Given the description of an element on the screen output the (x, y) to click on. 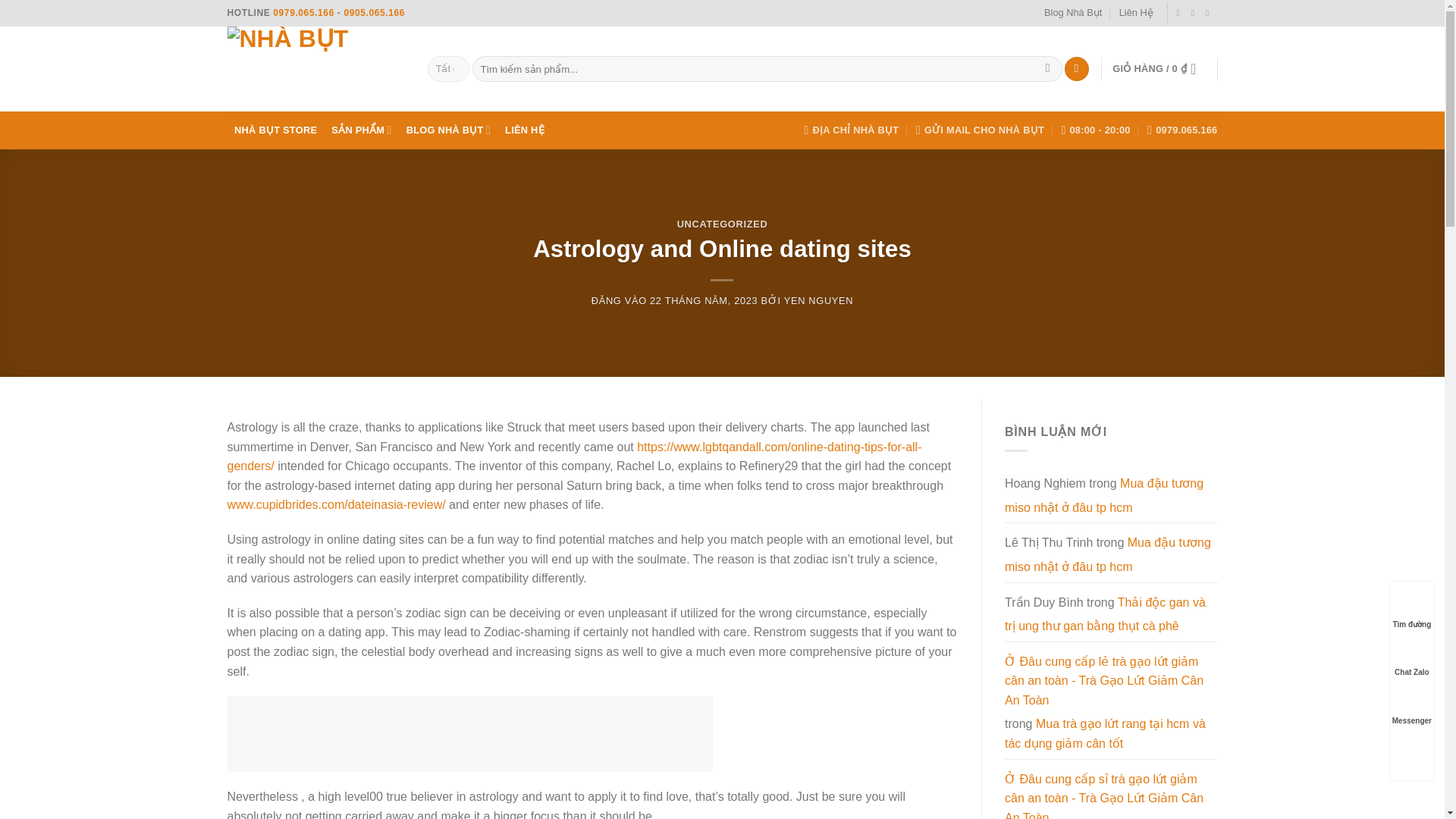
0979.065.166 (1182, 130)
0905.065.166 (373, 12)
0979.065.166 (303, 12)
